Given the description of an element on the screen output the (x, y) to click on. 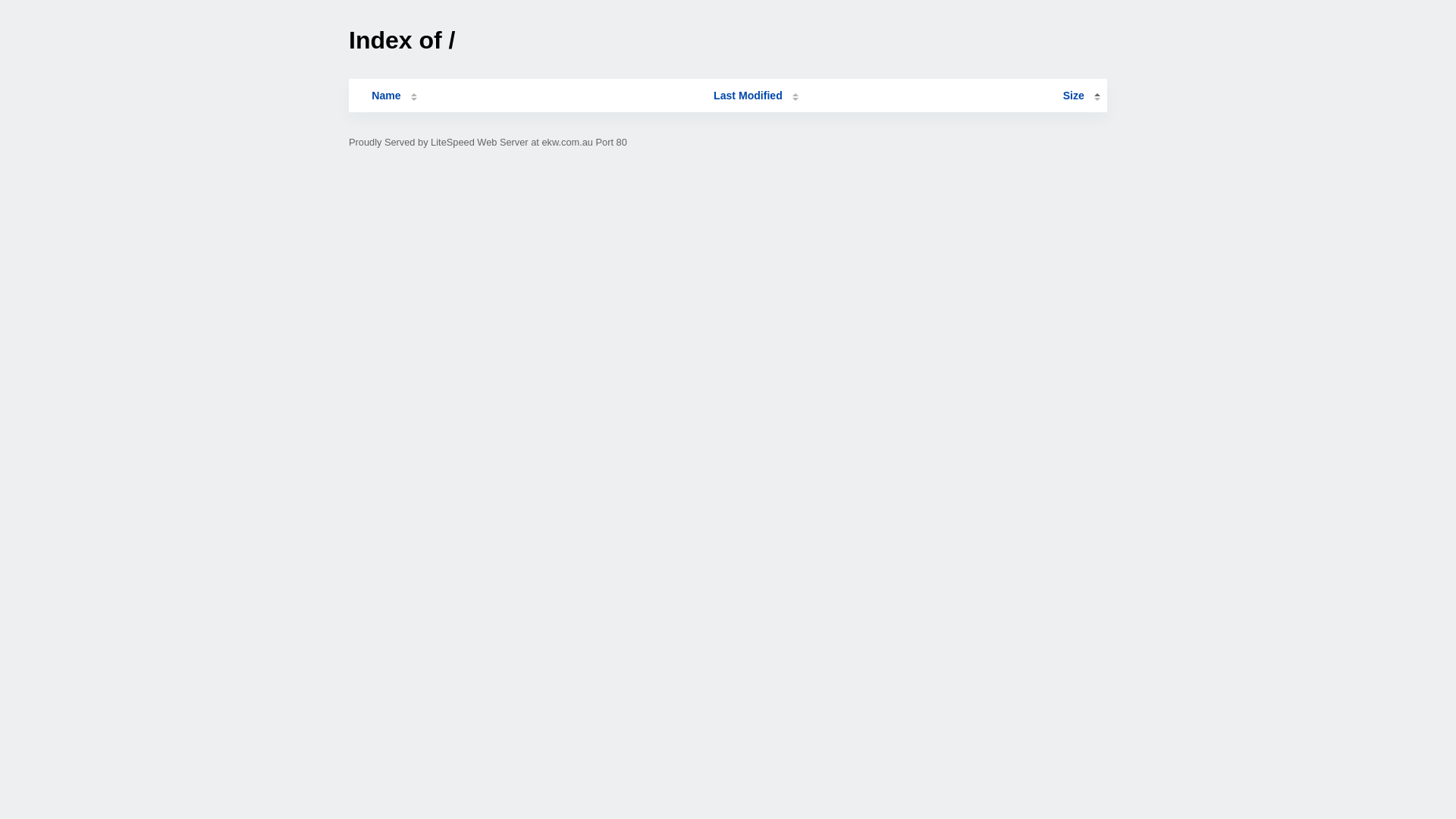
Size Element type: text (1081, 95)
Last Modified Element type: text (755, 95)
Name Element type: text (385, 95)
